Given the description of an element on the screen output the (x, y) to click on. 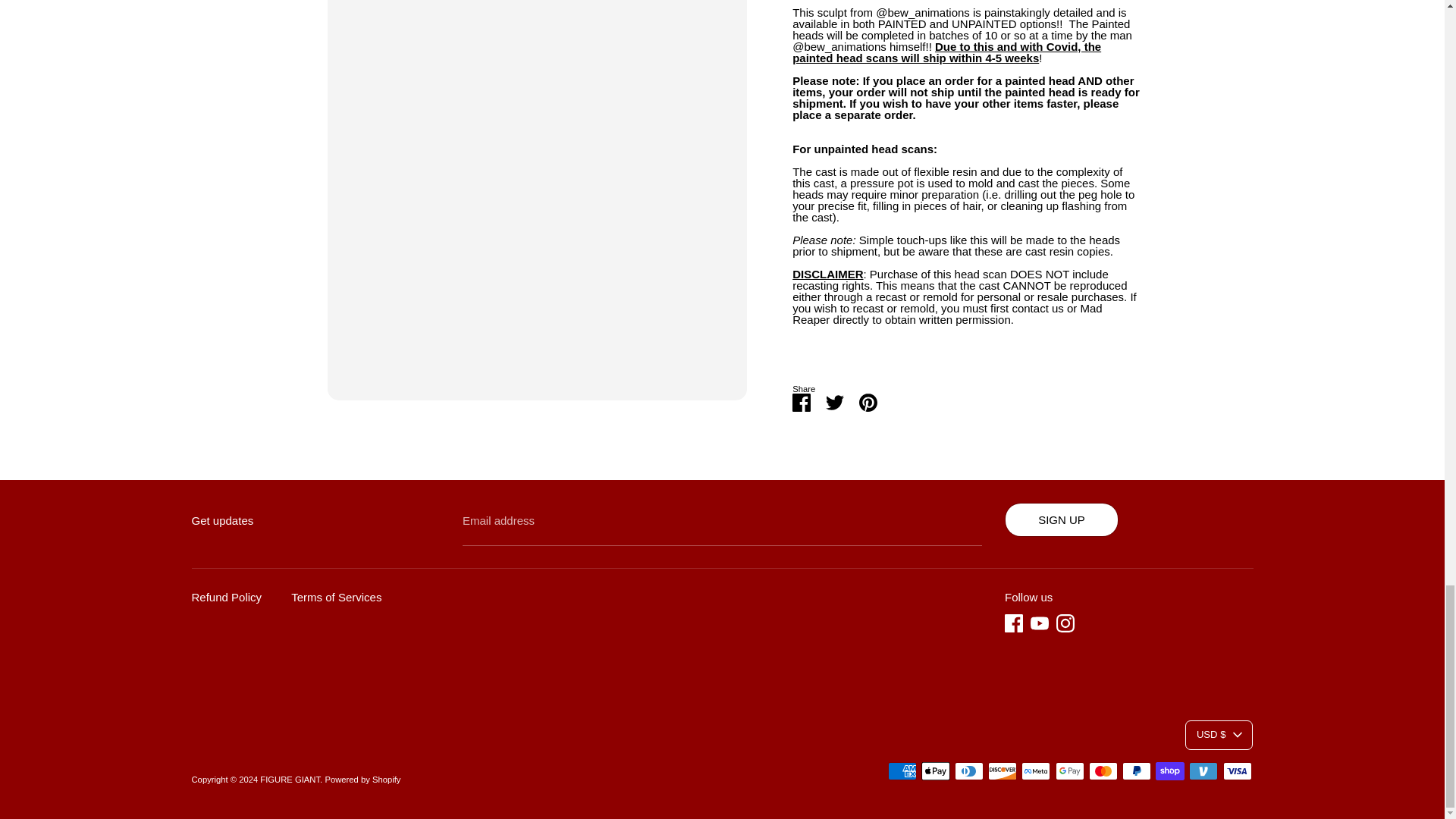
Mastercard (1103, 771)
Apple Pay (935, 771)
Meta Pay (1035, 771)
Diners Club (969, 771)
Google Pay (1069, 771)
American Express (902, 771)
Discover (1002, 771)
